Given the description of an element on the screen output the (x, y) to click on. 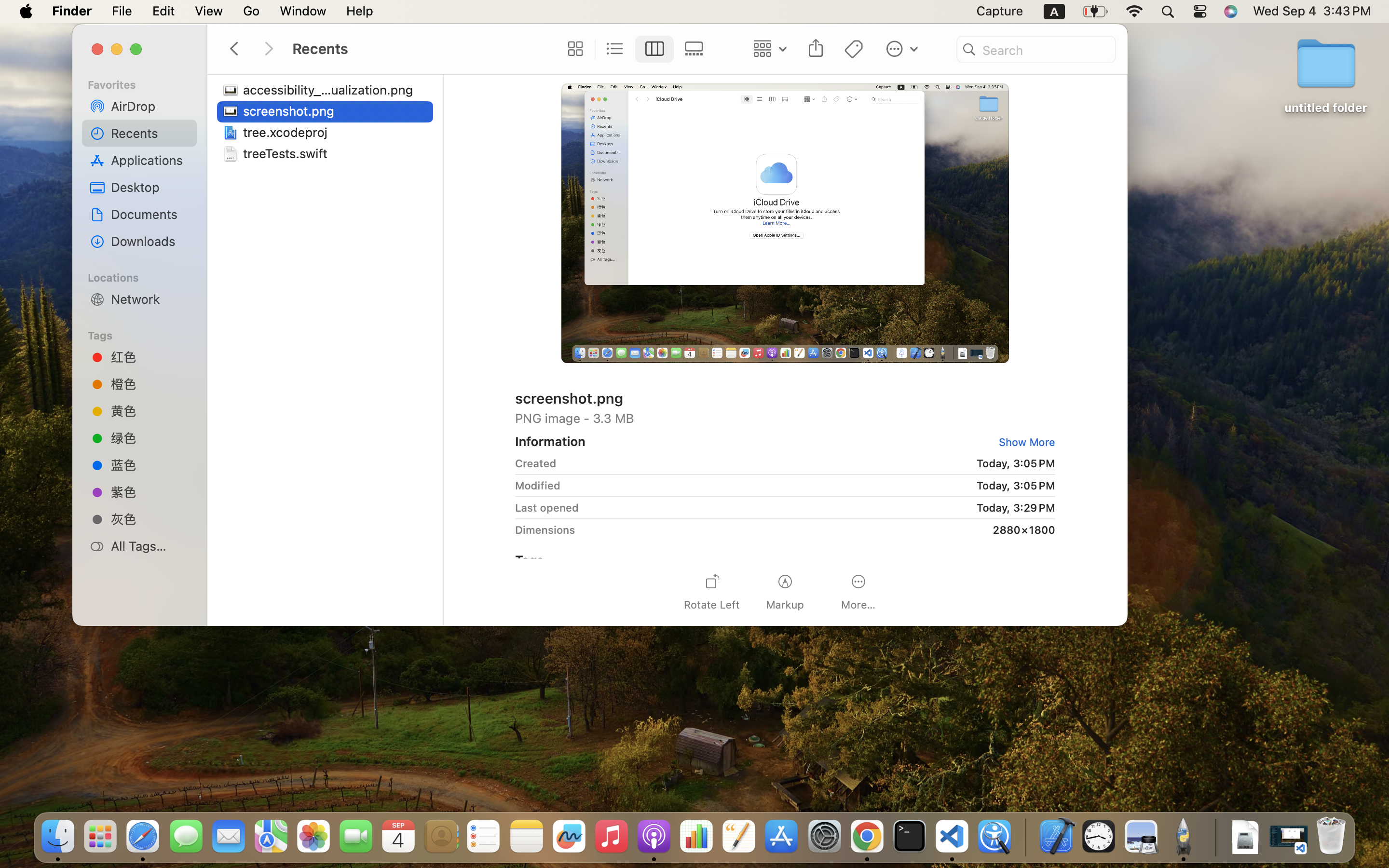
All Tags… Element type: AXStaticText (149, 545)
Applications Element type: AXStaticText (149, 159)
Tags Element type: AXStaticText (144, 334)
tree.xcodeproj Element type: AXTextField (287, 131)
Network Element type: AXStaticText (149, 298)
